Given the description of an element on the screen output the (x, y) to click on. 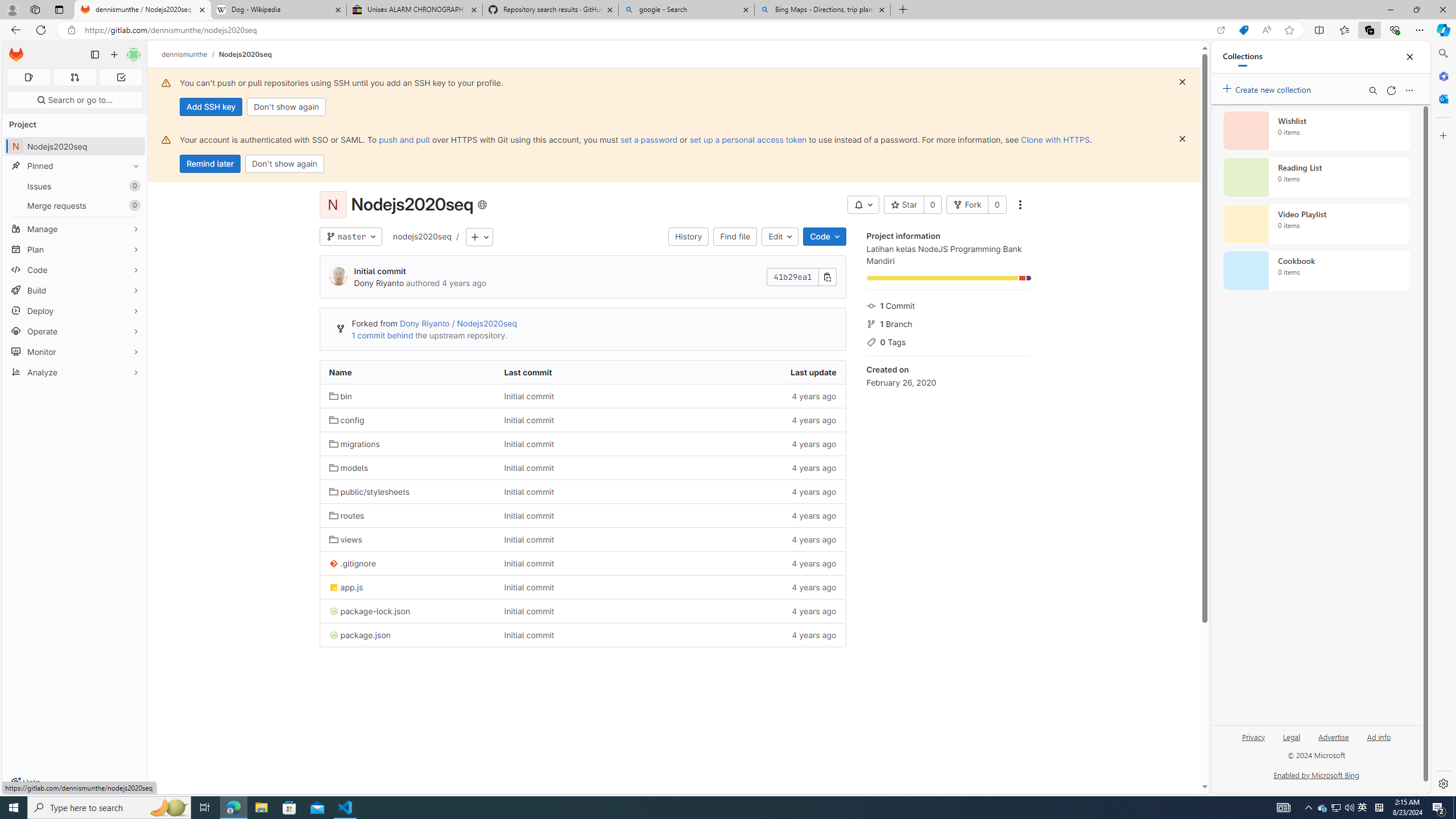
Dony Riyanto (378, 283)
Initial commit (583, 634)
app.js (407, 586)
Video Playlist collection, 0 items (1316, 223)
Class: s16 position-relative file-icon (333, 635)
Operate (74, 330)
4 years ago (757, 634)
set a password (649, 139)
Dony Riyanto's avatar (338, 275)
Merge requests 0 (74, 205)
